Given the description of an element on the screen output the (x, y) to click on. 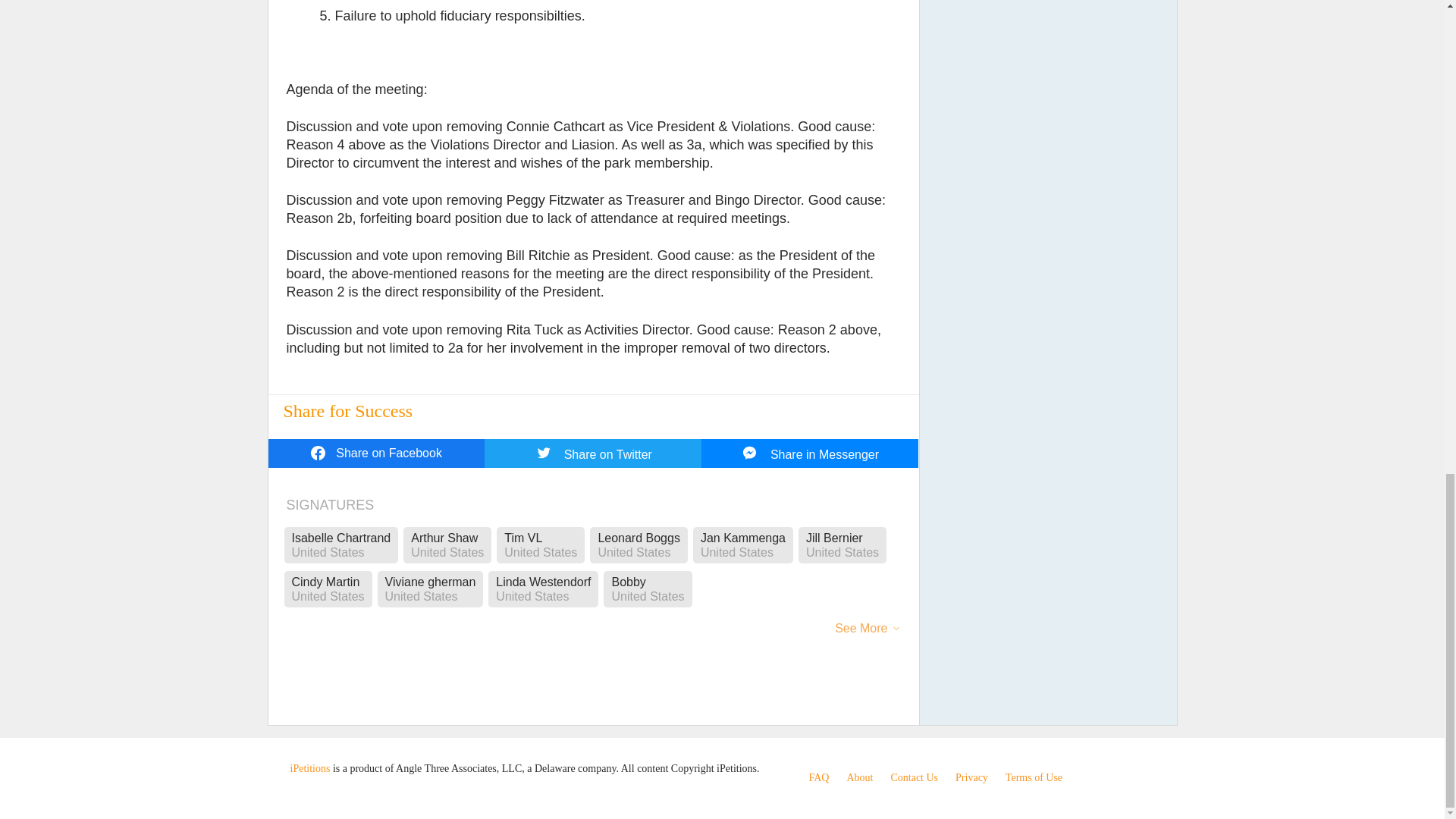
iPetitions (309, 767)
See More (859, 634)
Share on Facebook (375, 452)
Contact Us (913, 777)
About (858, 777)
Share on Twitter (592, 452)
Share in Messenger (809, 452)
FAQ (818, 777)
Terms of Use (1034, 777)
Privacy (971, 777)
Frequently Asked Question (818, 777)
